Given the description of an element on the screen output the (x, y) to click on. 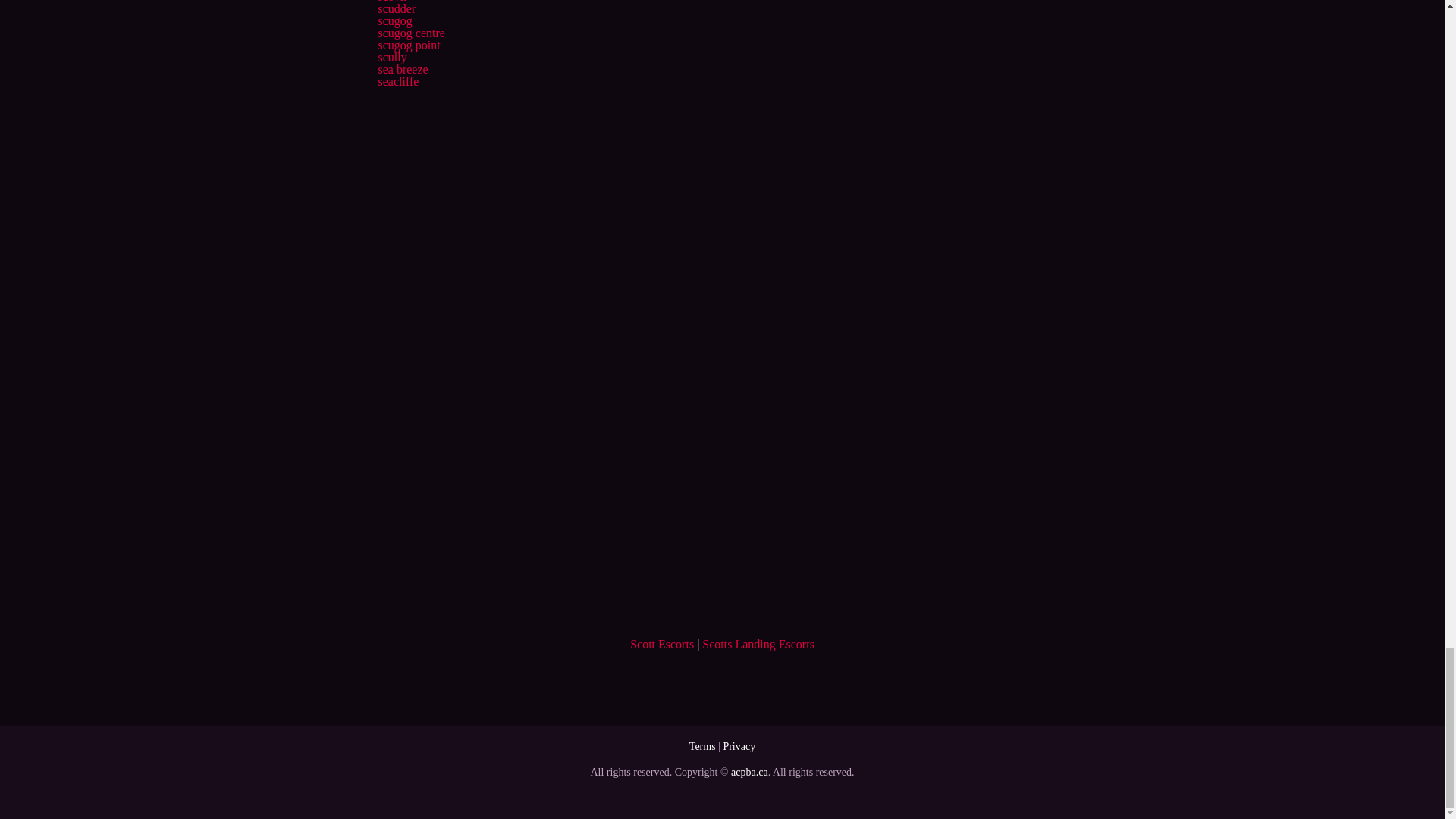
sea breeze (402, 69)
Scott Escorts (662, 644)
scugog centre (410, 32)
seacliffe (398, 81)
scovil (391, 1)
scugog point (408, 44)
acpba.ca (749, 772)
Terms (702, 746)
scully (391, 56)
Terms (702, 746)
scugog (394, 20)
Privacy (738, 746)
Privacy (738, 746)
scudder (395, 8)
Scotts Landing Escorts (757, 644)
